Given the description of an element on the screen output the (x, y) to click on. 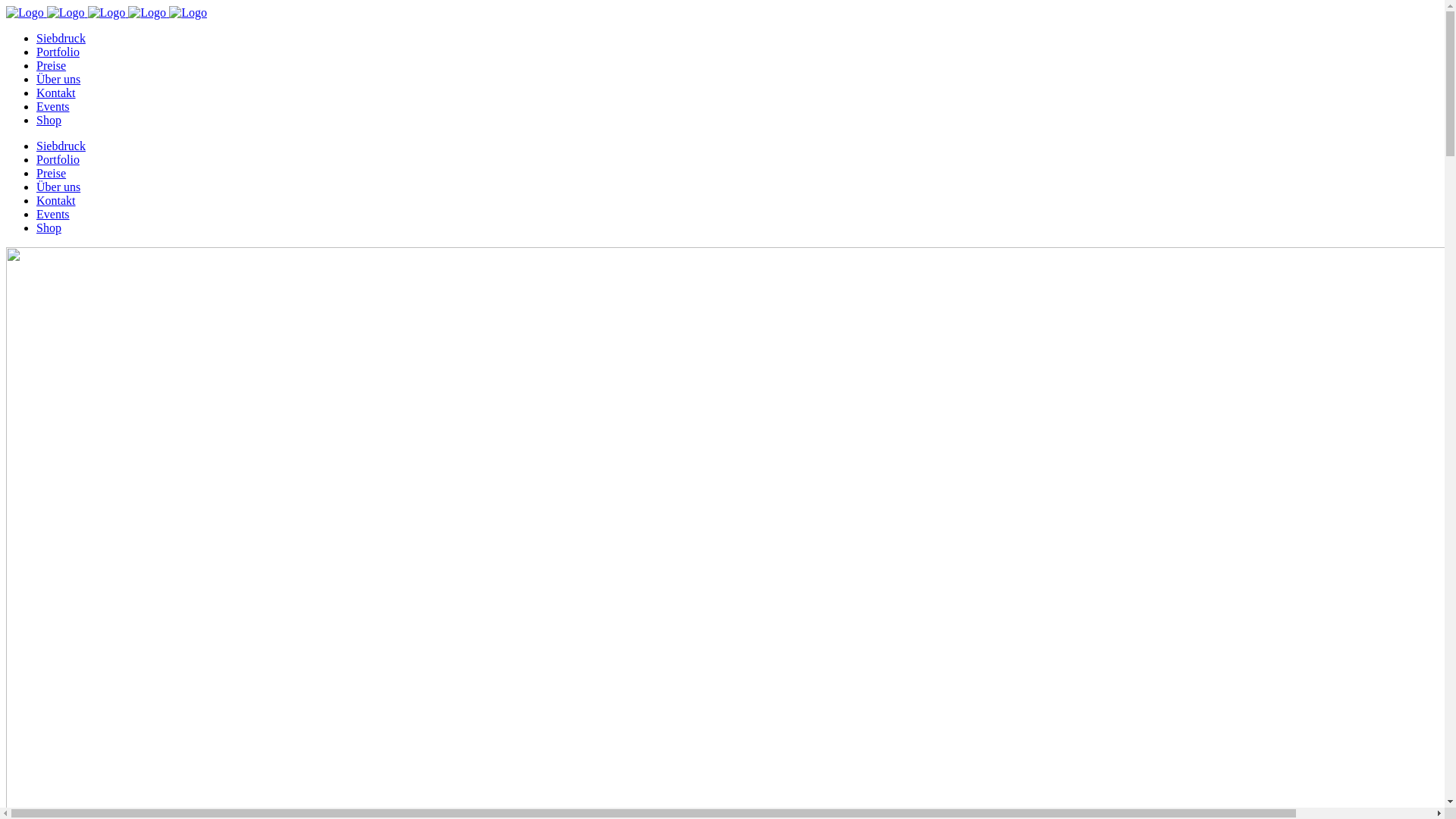
Events Element type: text (52, 106)
Kontakt Element type: text (55, 92)
Shop Element type: text (48, 227)
Portfolio Element type: text (57, 159)
Portfolio Element type: text (57, 51)
Preise Element type: text (50, 172)
Siebdruck Element type: text (60, 37)
Kontakt Element type: text (55, 200)
Events Element type: text (52, 213)
Siebdruck Element type: text (60, 145)
Preise Element type: text (50, 65)
Shop Element type: text (48, 119)
